Given the description of an element on the screen output the (x, y) to click on. 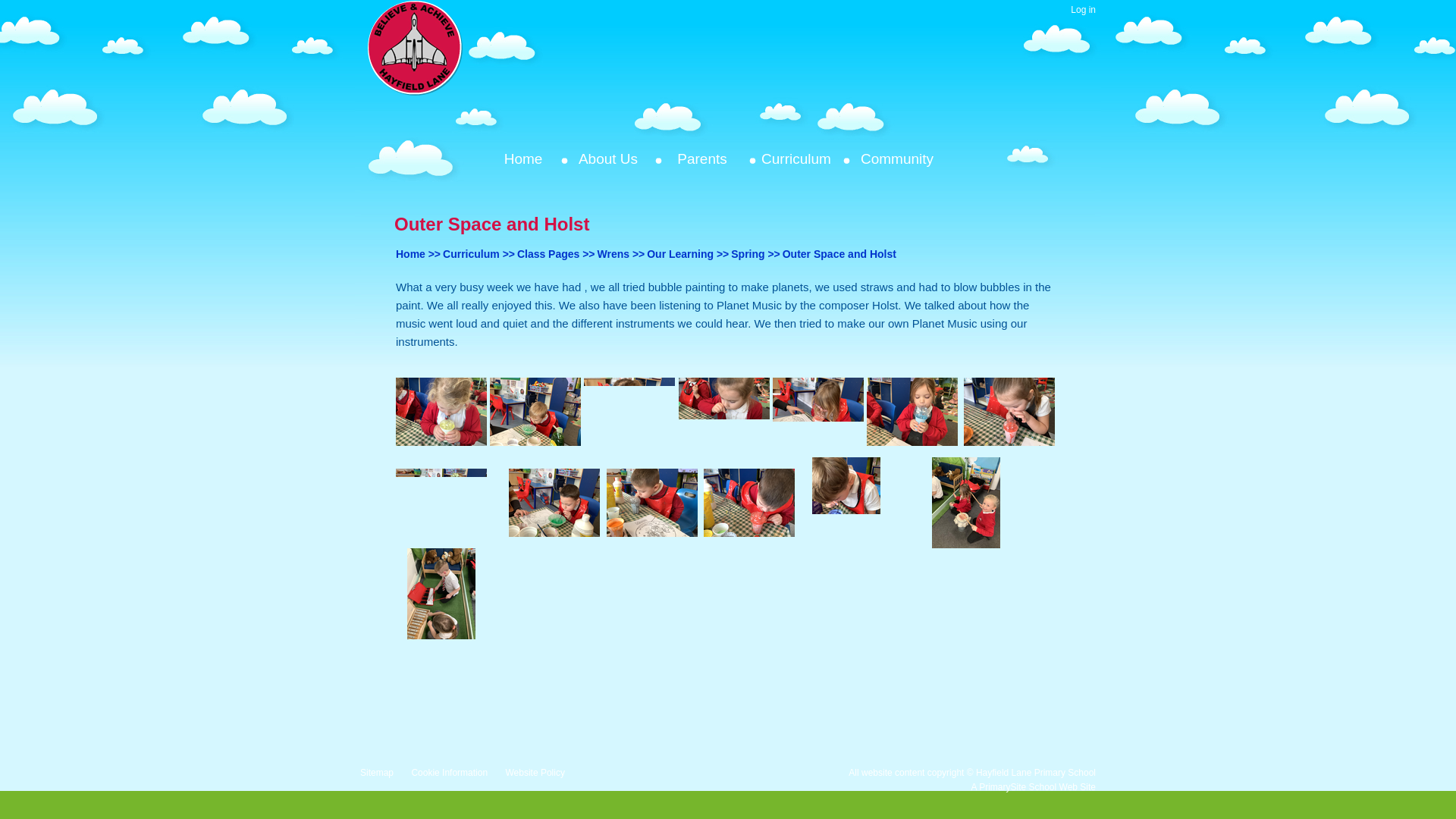
Class Pages (547, 254)
Log in (1083, 10)
Wrens (613, 254)
Curriculum (470, 254)
Home Page (415, 47)
Home Page (415, 47)
Spring (747, 254)
Our Learning (679, 254)
Home (410, 254)
Outer Space and Holst (839, 254)
